Given the description of an element on the screen output the (x, y) to click on. 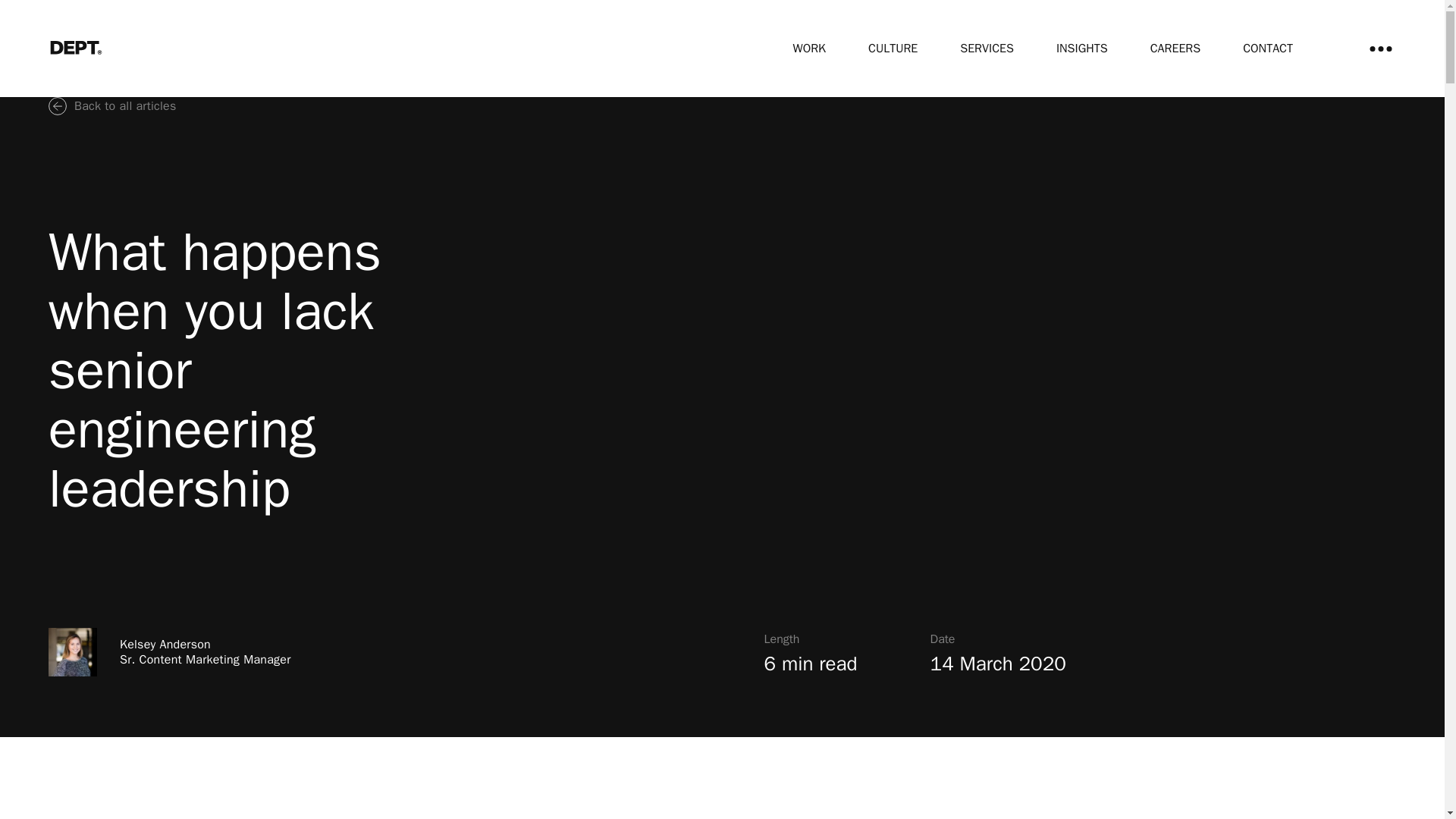
INSIGHTS (1082, 48)
CULTURE (892, 48)
WORK (809, 48)
CONTACT (1267, 48)
Toggle menu (1380, 48)
SERVICES (986, 48)
CAREERS (1174, 48)
